Given the description of an element on the screen output the (x, y) to click on. 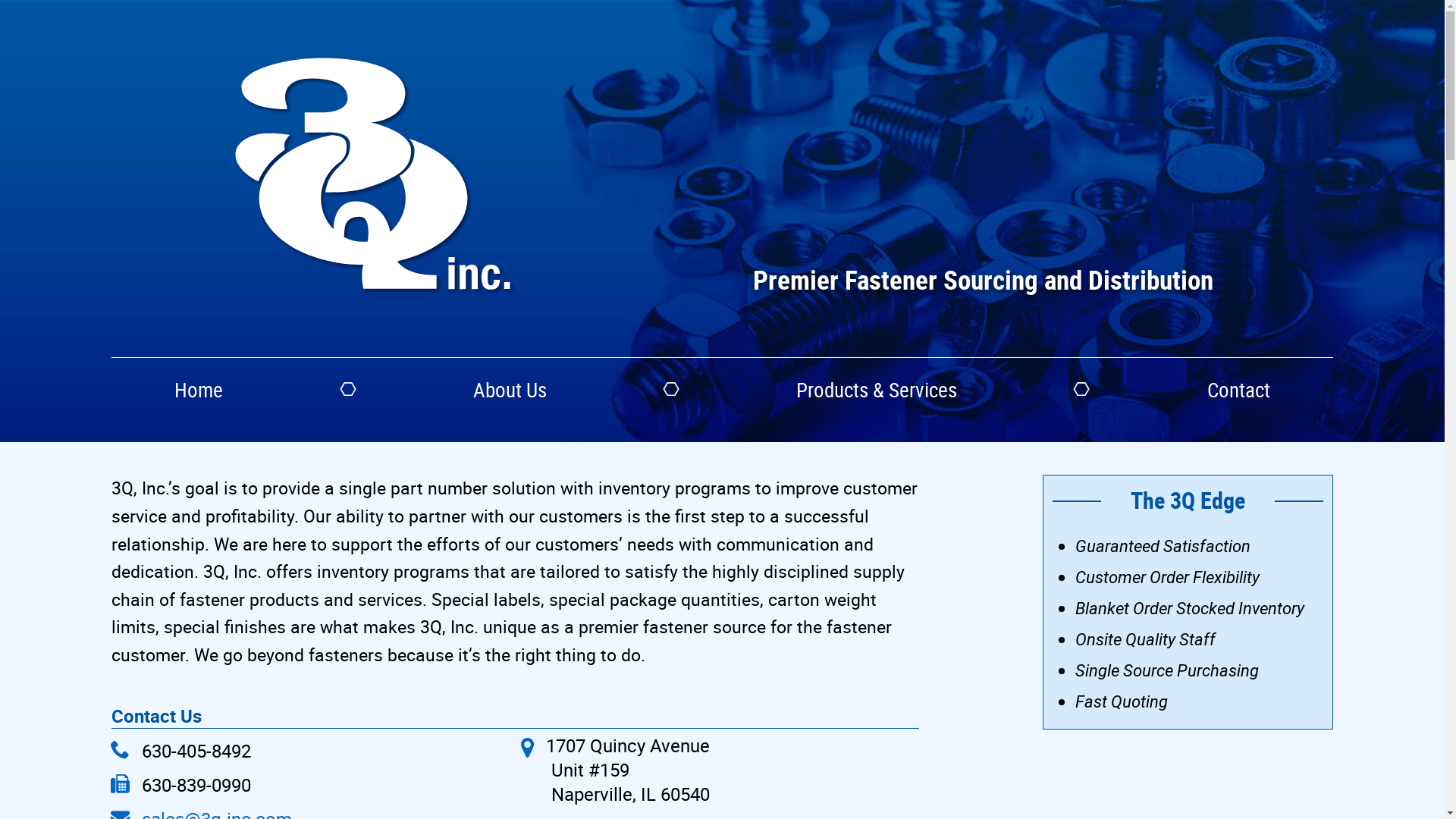
Contact Element type: text (1238, 389)
Home Element type: text (198, 389)
Products & Services Element type: text (876, 389)
About Us Element type: text (509, 389)
